Given the description of an element on the screen output the (x, y) to click on. 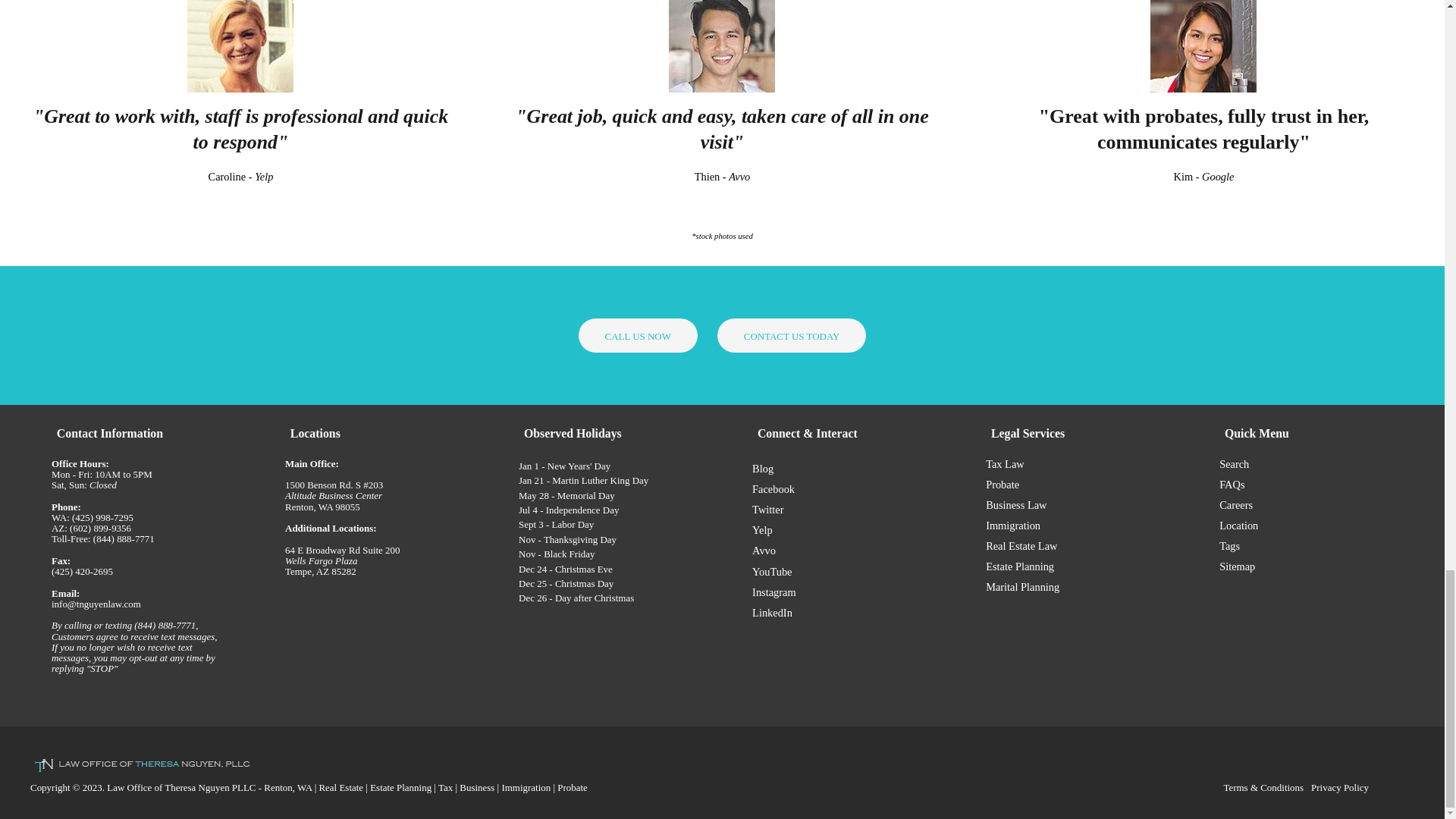
Probate Lawyer (572, 787)
Estate Planning Lawyer (399, 787)
CALL US NOW (637, 335)
Real Estate Lawyer (340, 787)
Business Lawyer (477, 787)
Immigration Lawyer (525, 787)
Tax Attorney (445, 787)
